Given the description of an element on the screen output the (x, y) to click on. 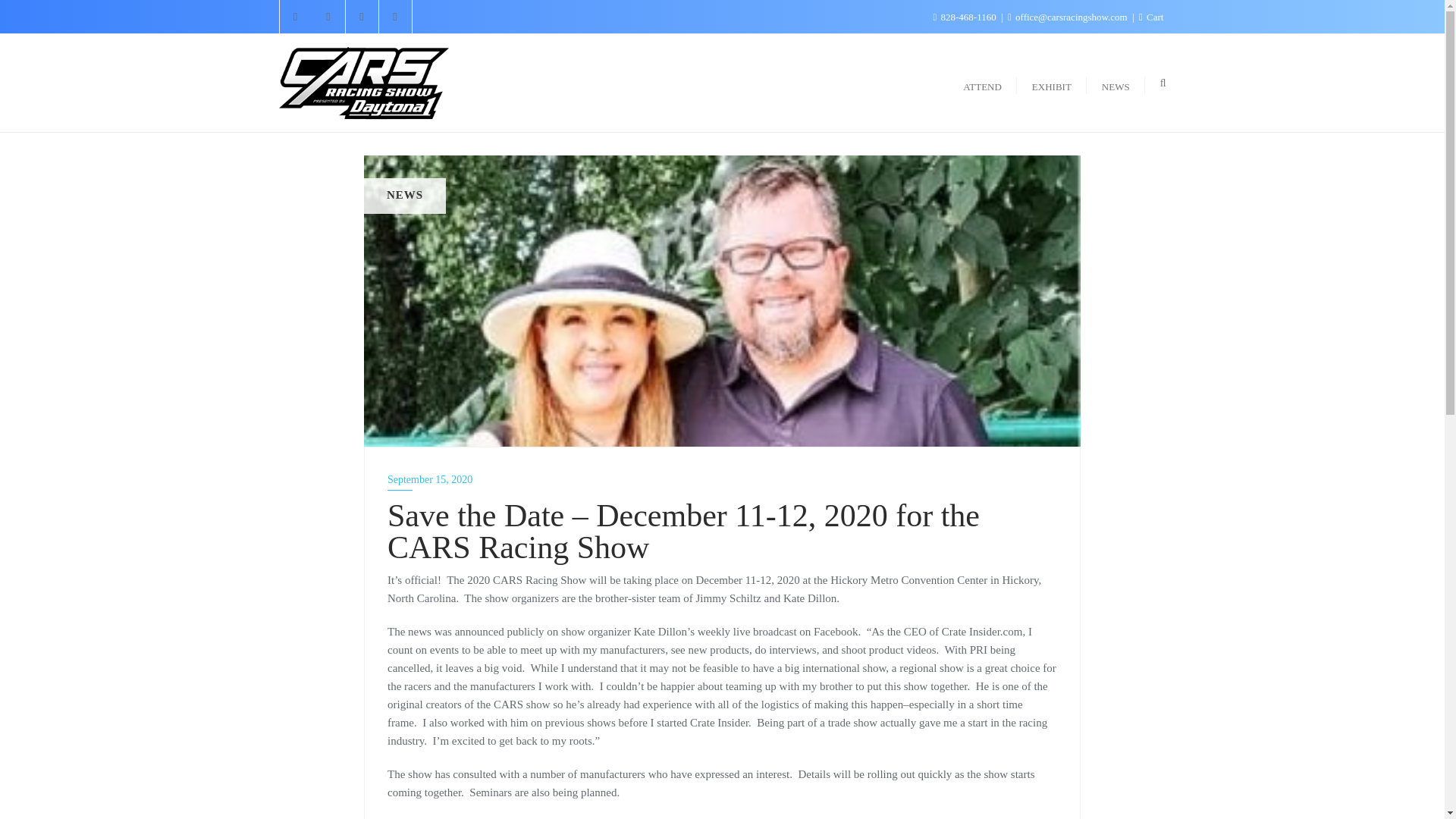
ATTEND (981, 82)
EXHIBIT (1051, 82)
NEWS (1115, 82)
828-468-1160 (965, 16)
Cart (1150, 16)
September 15, 2020 (722, 479)
